Given the description of an element on the screen output the (x, y) to click on. 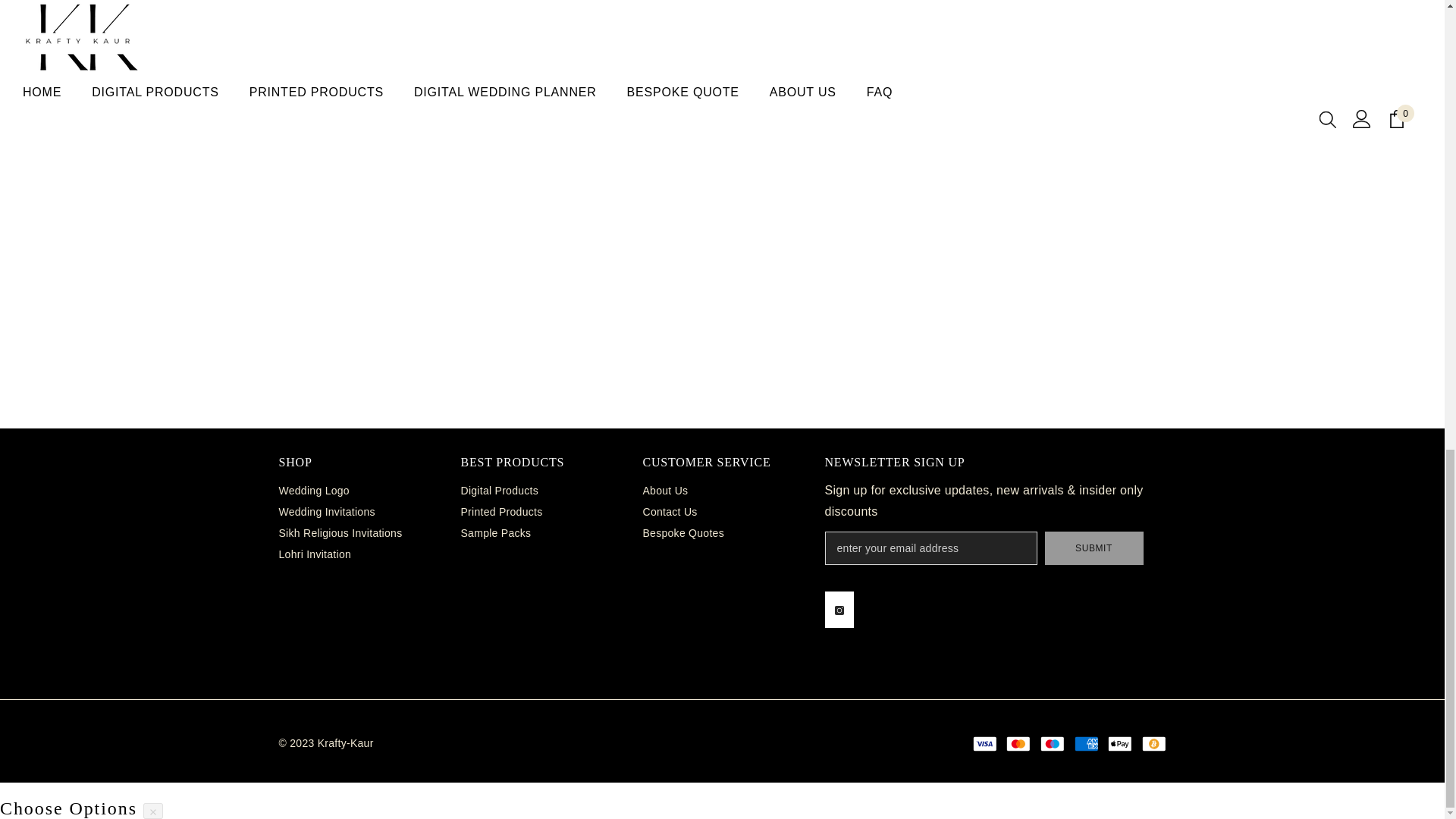
Mastercard (1018, 743)
Bitcoin (1153, 743)
Visa (984, 743)
Apple Pay (1119, 743)
Maestro (1052, 743)
American Express (1086, 743)
